Given the description of an element on the screen output the (x, y) to click on. 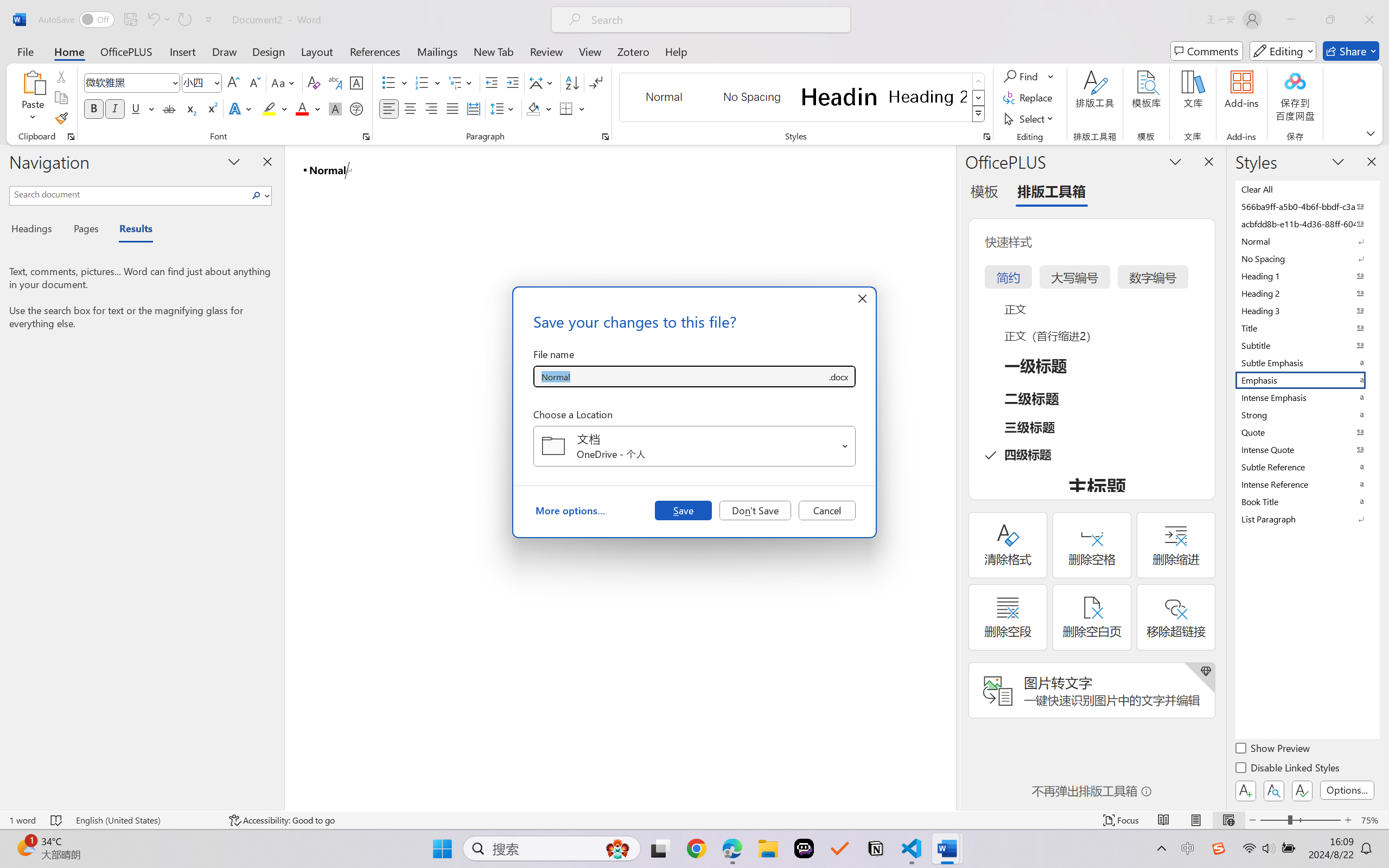
Share (1350, 51)
Character Shading (334, 108)
Search document (128, 193)
Microsoft search (715, 19)
Pages (85, 229)
Title (1306, 327)
Ribbon Display Options (1370, 132)
Headings (35, 229)
Review (546, 51)
Zoom Out (1273, 819)
Align Right (431, 108)
